Given the description of an element on the screen output the (x, y) to click on. 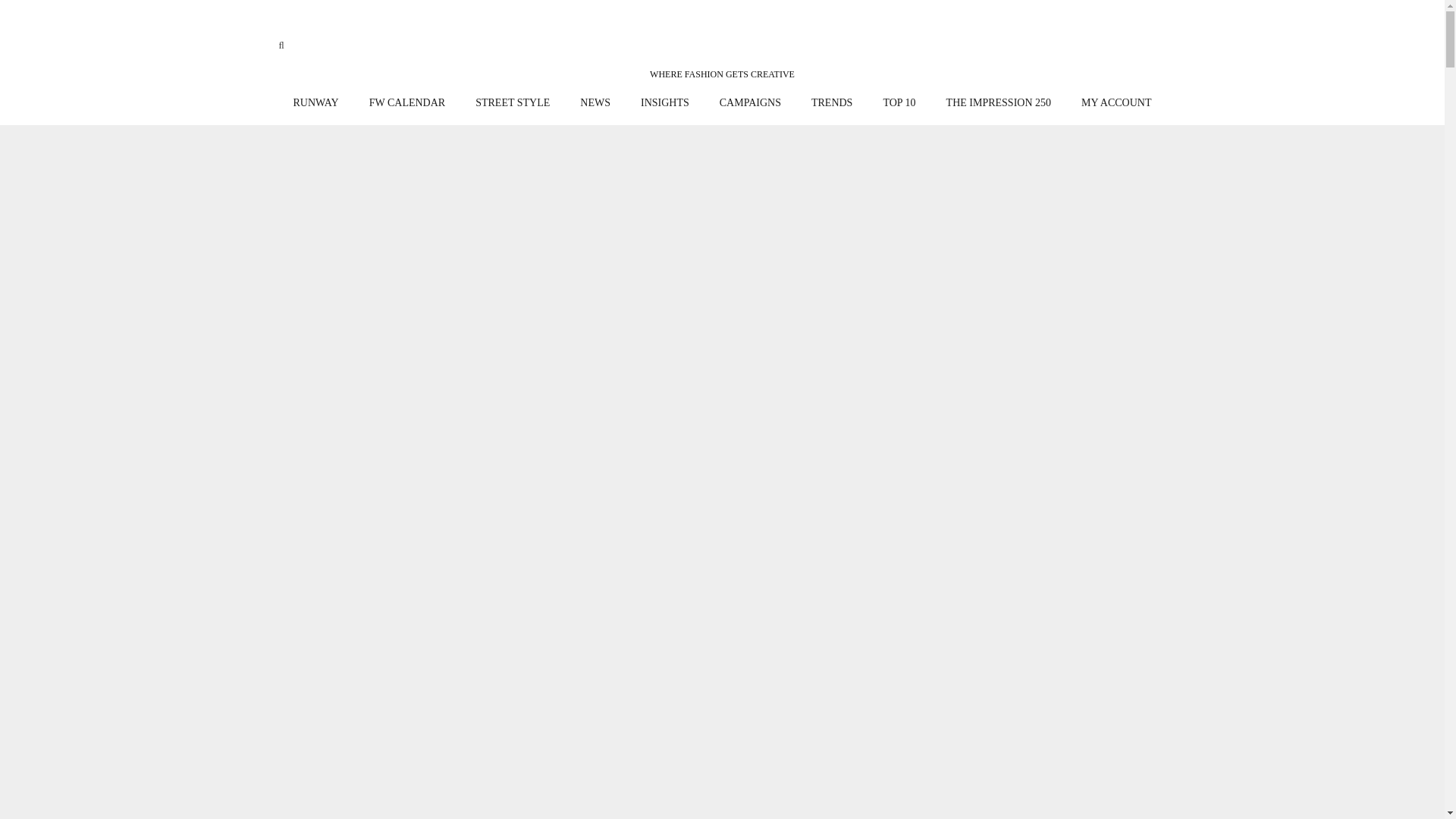
NEWS (595, 103)
CAMPAIGNS (750, 103)
RUNWAY (315, 103)
FW CALENDAR (406, 103)
INSIGHTS (665, 103)
STREET STYLE (512, 103)
WHERE FASHION GETS CREATIVE (721, 51)
